Given the description of an element on the screen output the (x, y) to click on. 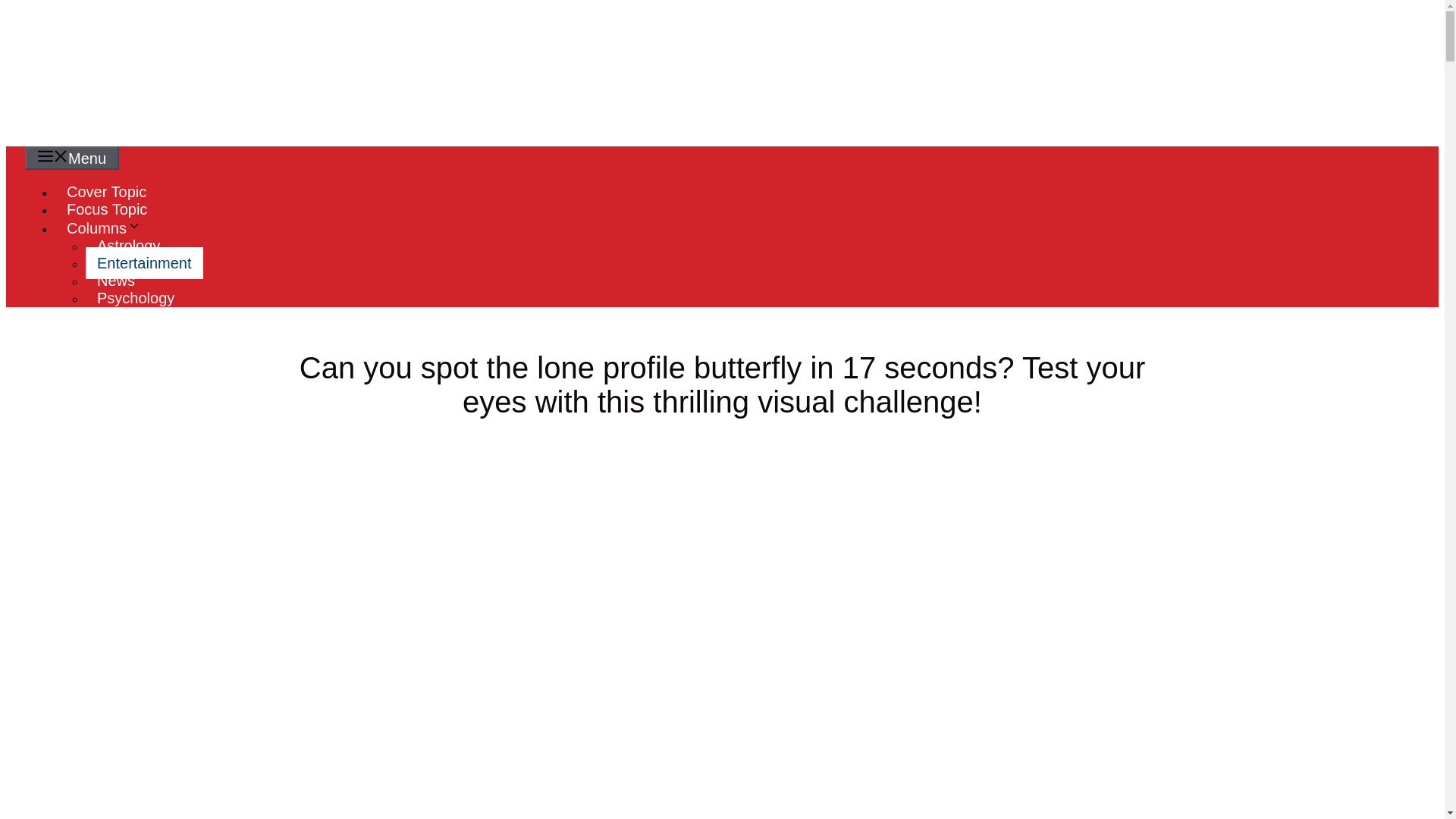
Focus Topic (106, 208)
Cover Topic (106, 191)
Psychology (135, 297)
News (116, 280)
Columns (109, 228)
Astrology (128, 245)
Menu (71, 157)
Entertainment (144, 263)
